Given the description of an element on the screen output the (x, y) to click on. 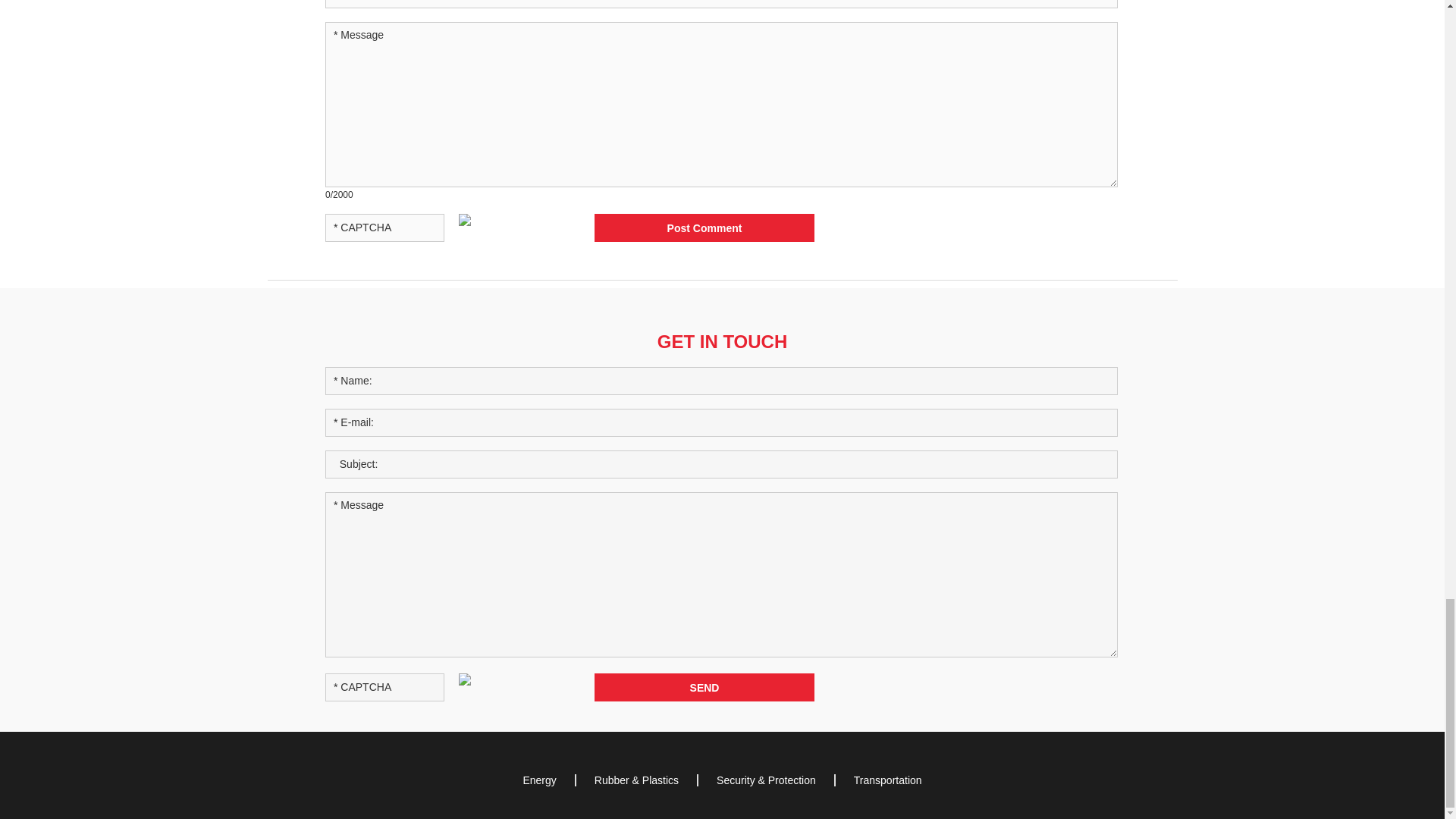
SEND (703, 687)
Post Comment (703, 227)
